Given the description of an element on the screen output the (x, y) to click on. 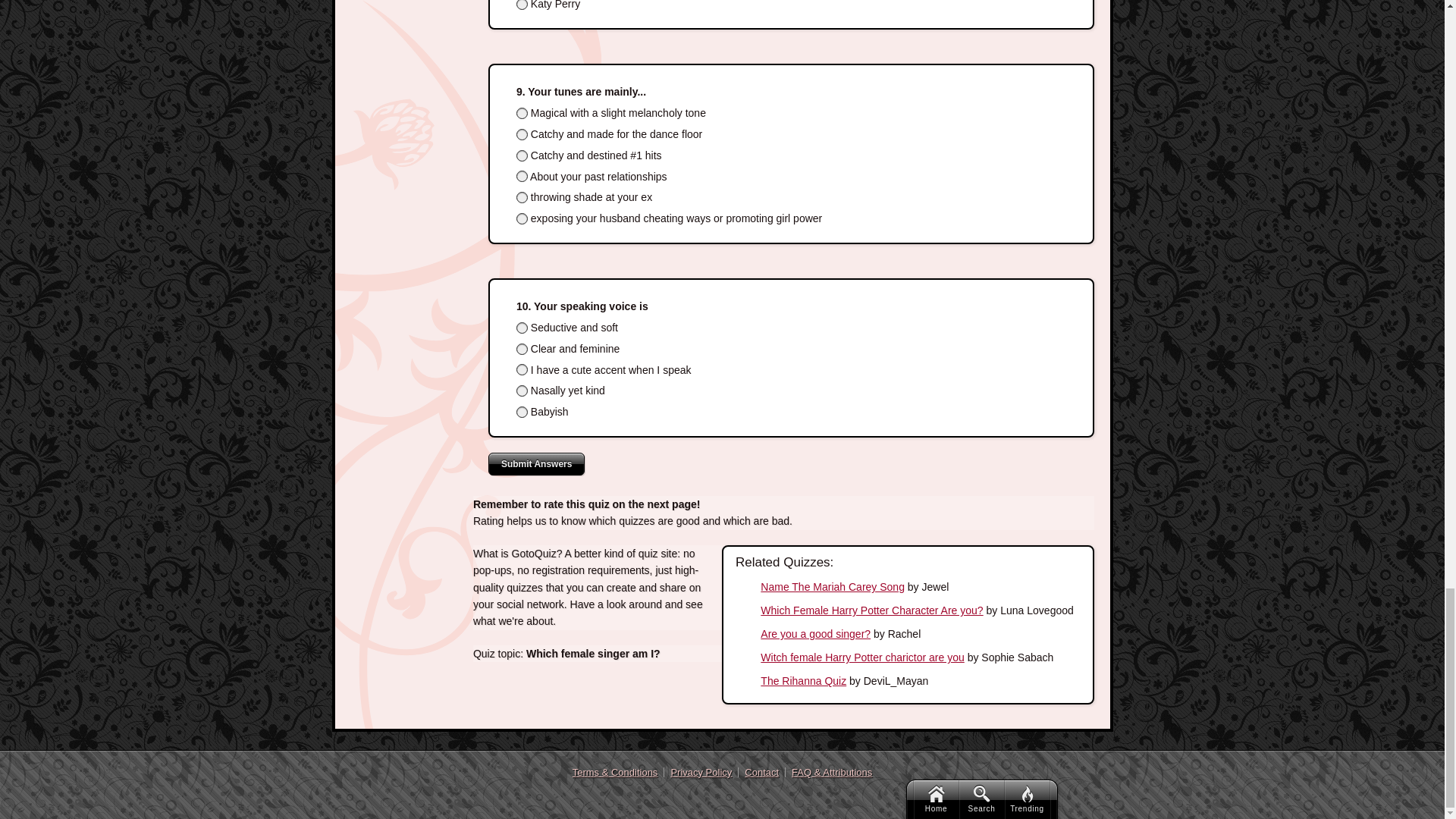
Witch female Harry Potter charictor are you (861, 657)
Are you a good singer? (815, 633)
Contact (761, 772)
Privacy Policy (700, 772)
Name The Mariah Carey Song (832, 586)
Which Female Harry Potter Character Are you? (871, 610)
Submit Answers (536, 463)
The Rihanna Quiz (802, 680)
